Given the description of an element on the screen output the (x, y) to click on. 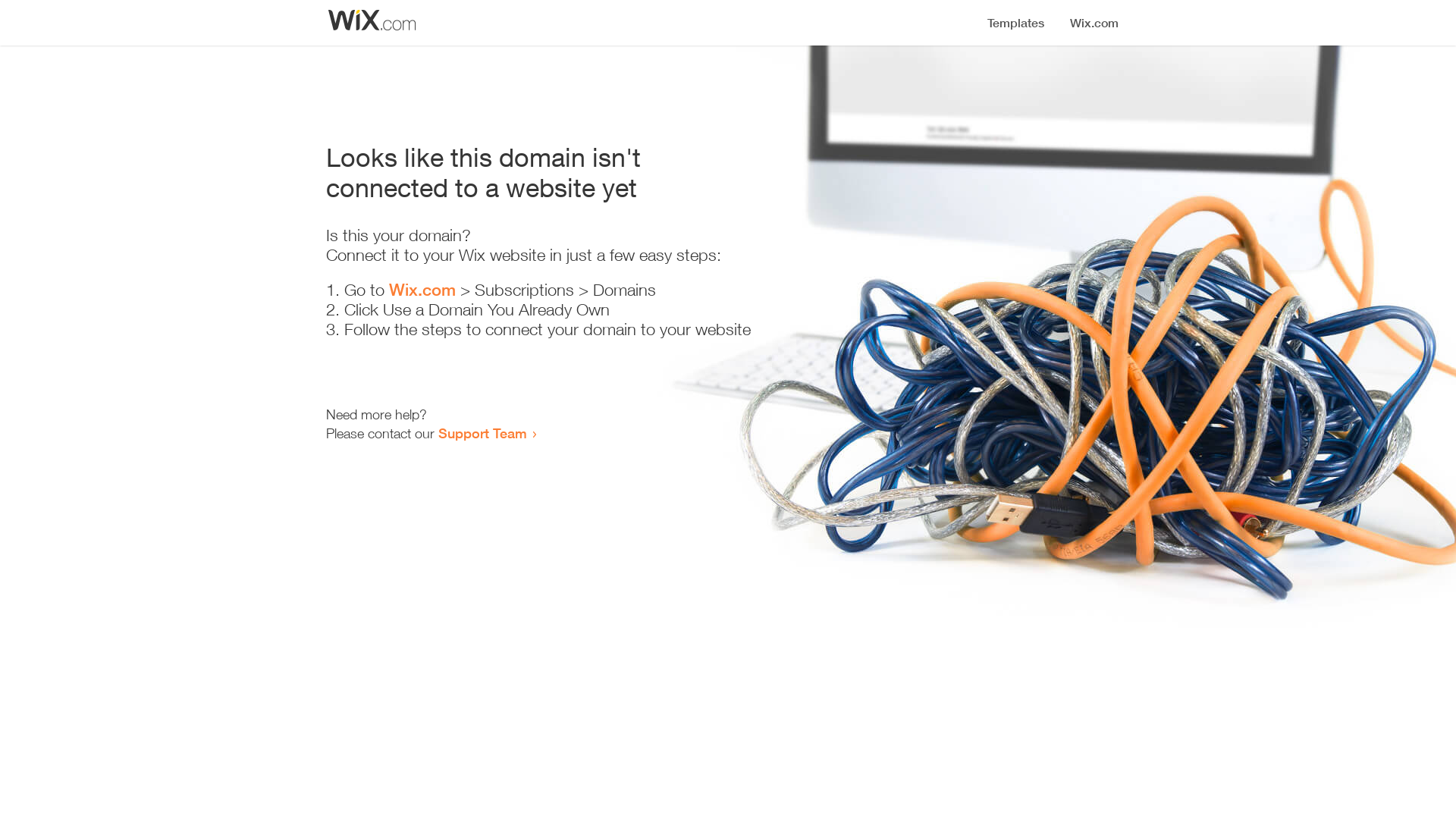
Wix.com Element type: text (422, 289)
Support Team Element type: text (482, 432)
